Given the description of an element on the screen output the (x, y) to click on. 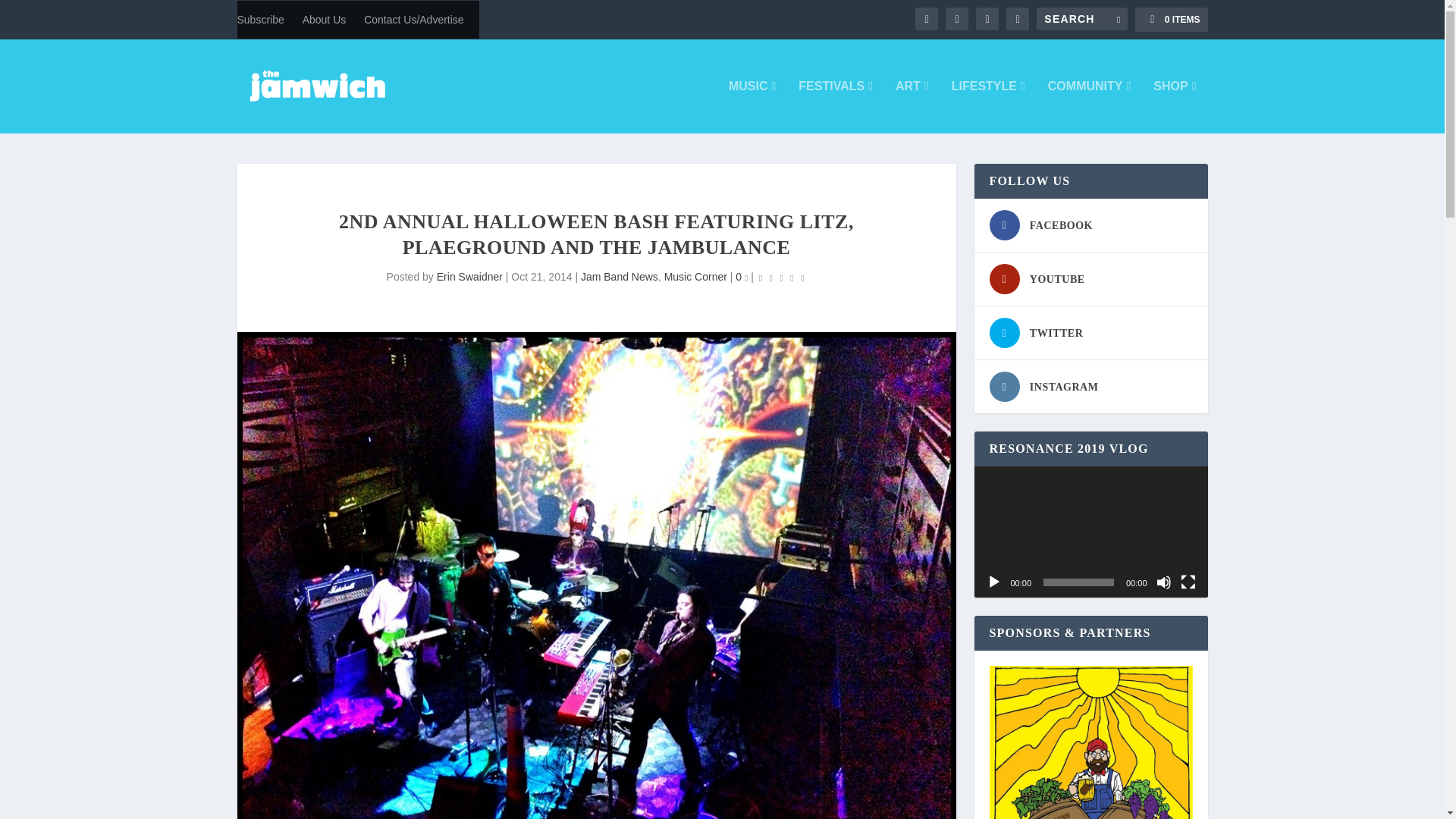
0 Items in Cart (1171, 19)
Posts by Erin Swaidner (469, 276)
LIFESTYLE (988, 106)
FESTIVALS (834, 106)
Search for: (1081, 18)
COMMUNITY (1089, 106)
0 ITEMS (1171, 19)
Subscribe (259, 19)
Rating: 0.00 (781, 277)
About Us (324, 19)
